Given the description of an element on the screen output the (x, y) to click on. 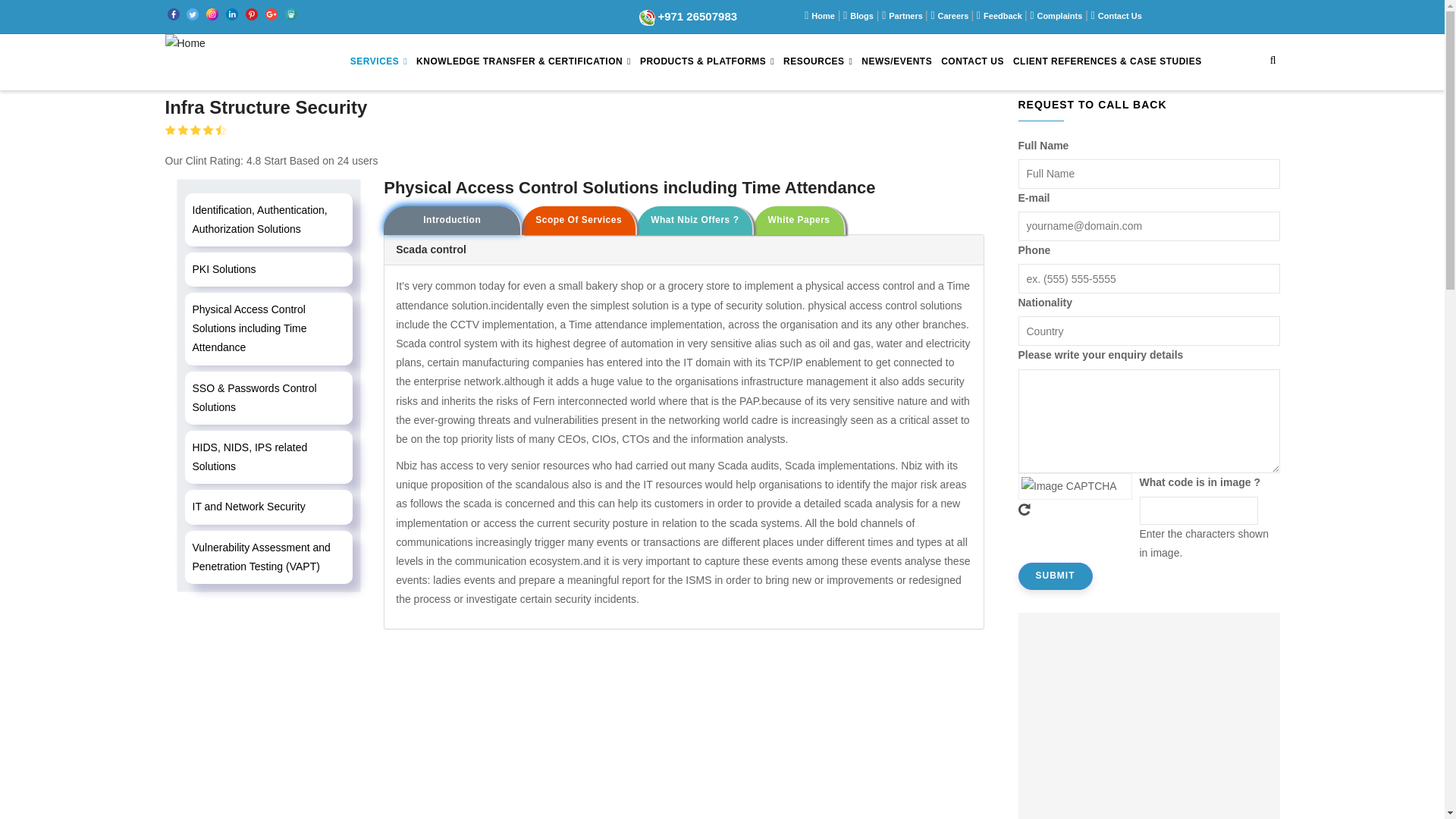
Complaints (1058, 15)
Submit (1054, 575)
Blogs (861, 15)
Careers (954, 15)
Home (185, 47)
Contact Us (1119, 15)
Generate new CAPTCHA image (1074, 509)
Home (822, 15)
Partners (906, 15)
